Given the description of an element on the screen output the (x, y) to click on. 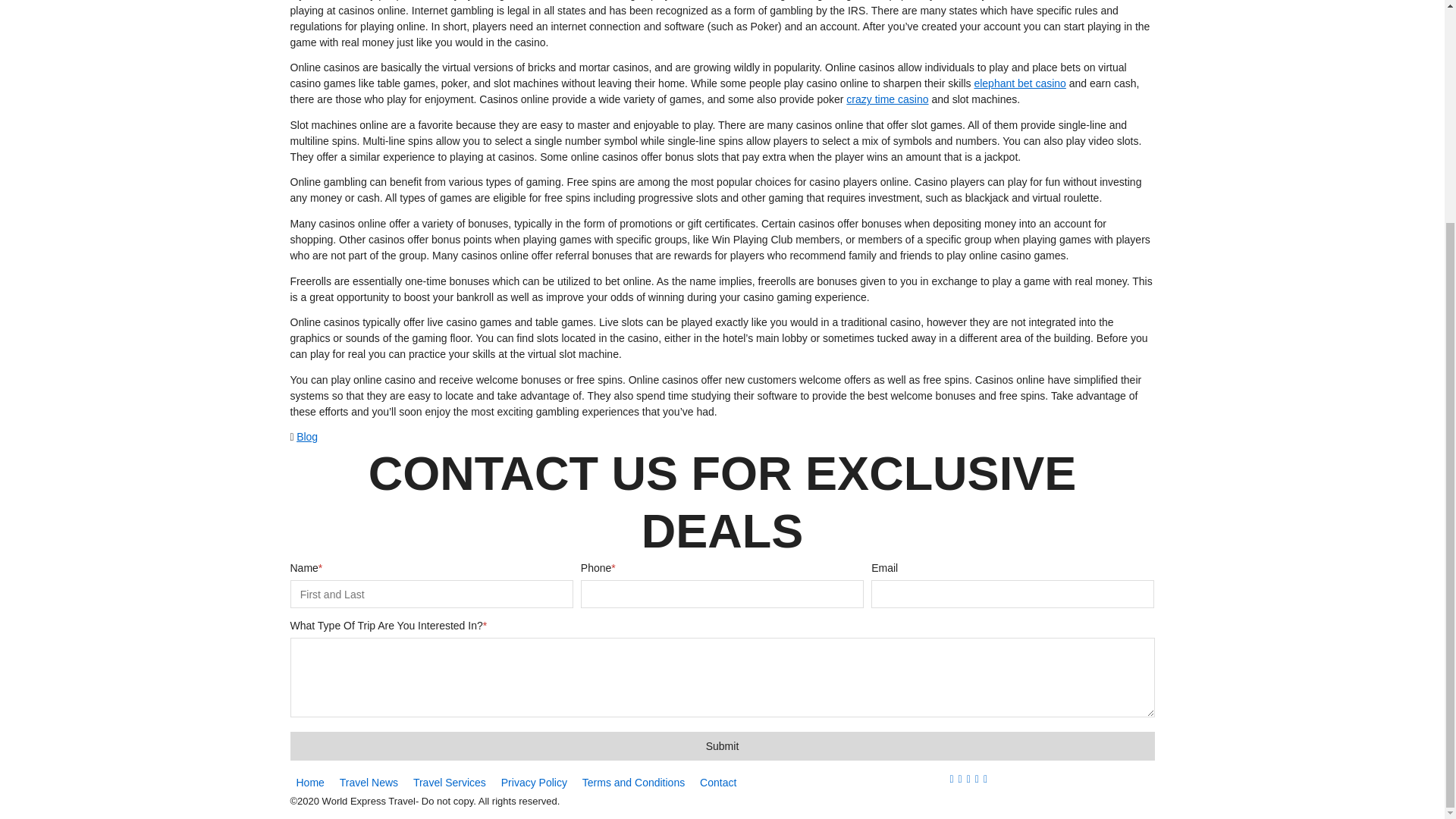
Submit (721, 746)
